Given the description of an element on the screen output the (x, y) to click on. 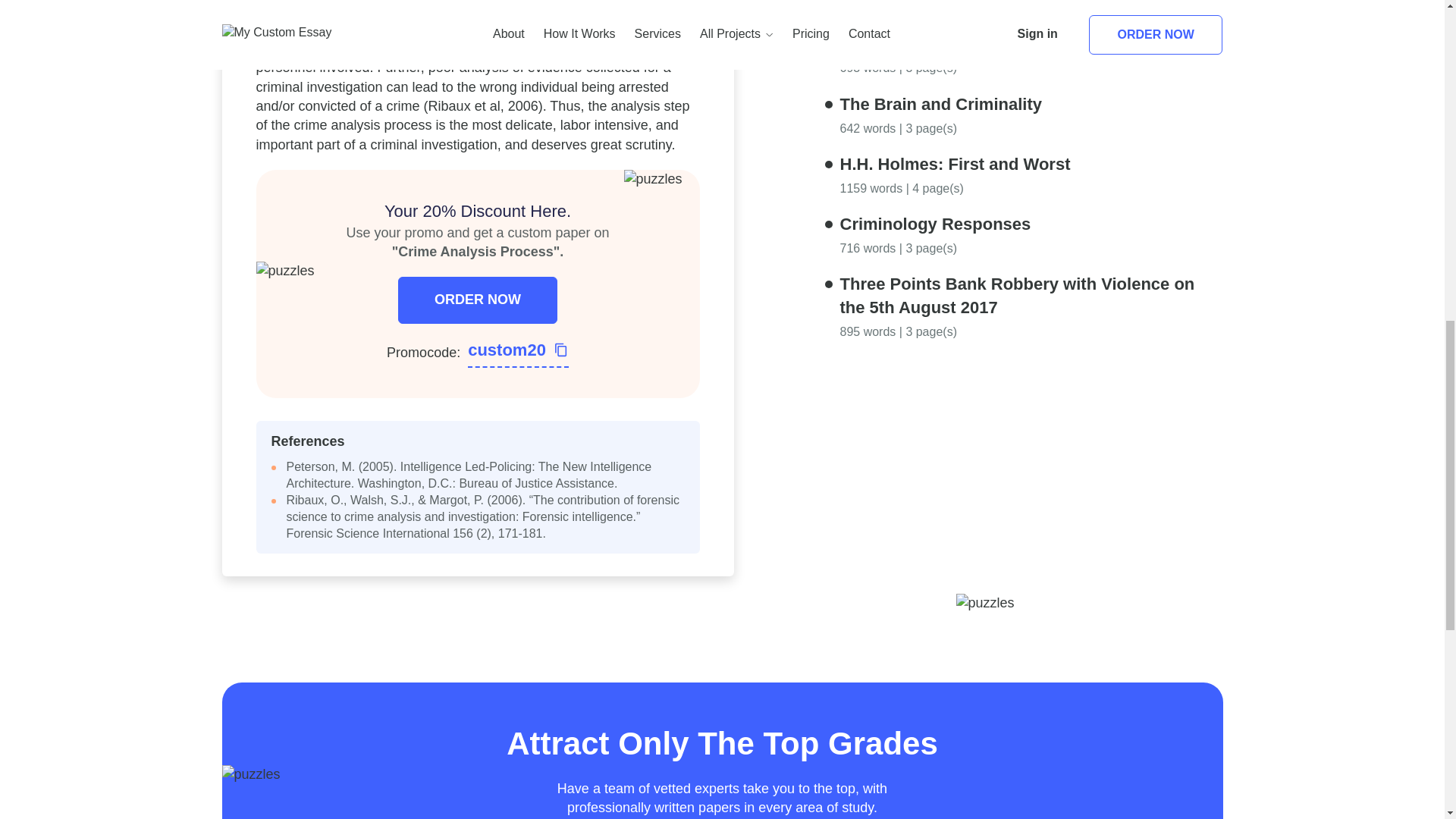
Criminology Responses (935, 223)
H.H. Holmes: First and Worst (955, 163)
The Brain and Criminality (941, 104)
The Crime Analysis Process (952, 44)
ORDER NOW (477, 299)
